Given the description of an element on the screen output the (x, y) to click on. 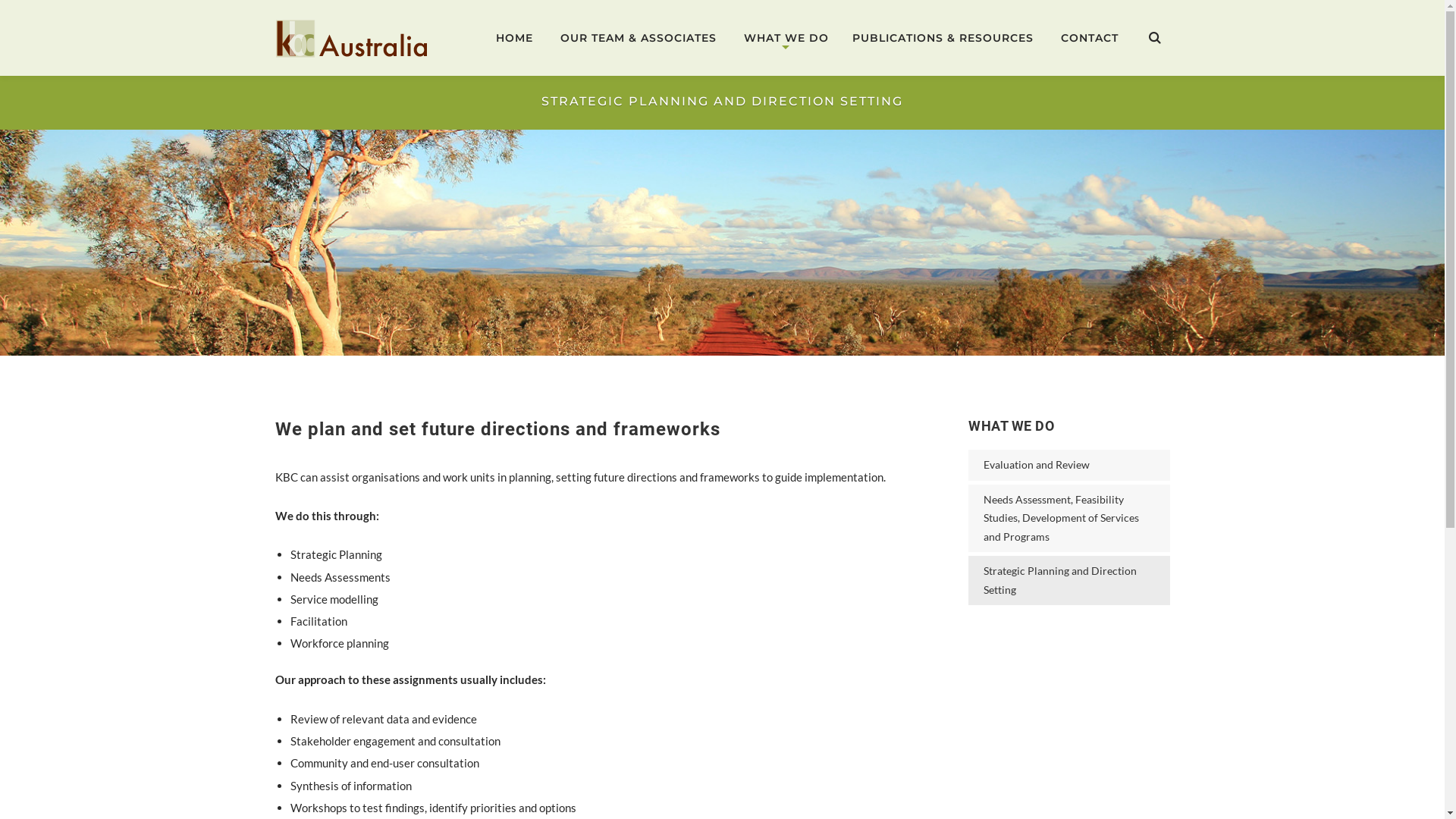
HOME Element type: text (513, 37)
Strategic Planning and Direction Setting Element type: text (1068, 580)
Evaluation and Review Element type: text (1068, 464)
WHAT WE DO Element type: text (784, 37)
KBC Australia Element type: hover (350, 36)
CONTACT Element type: text (1089, 37)
OUR TEAM & ASSOCIATES Element type: text (638, 37)
PUBLICATIONS & RESOURCES Element type: text (941, 37)
